Given the description of an element on the screen output the (x, y) to click on. 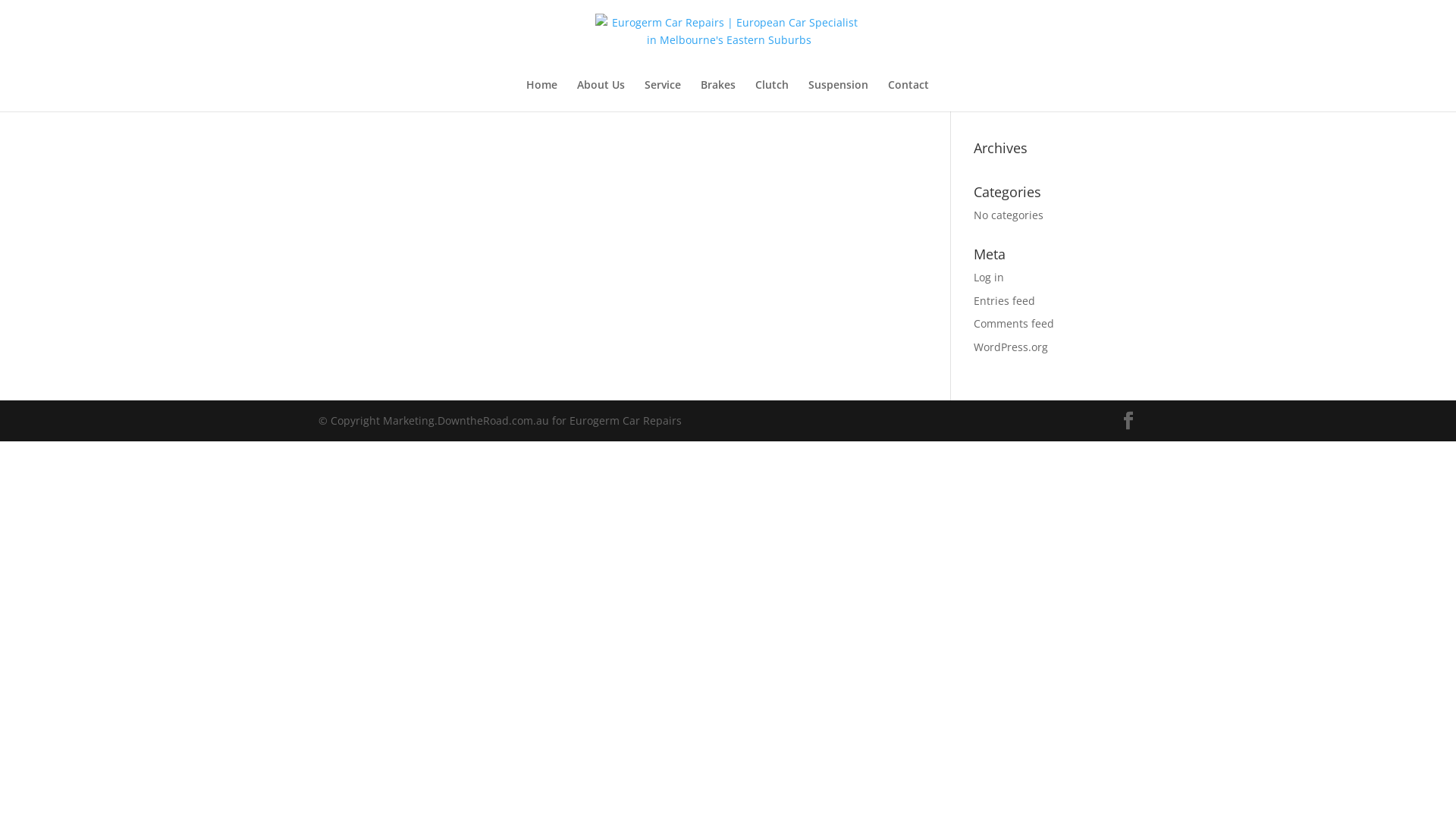
WordPress.org Element type: text (1010, 346)
About Us Element type: text (600, 95)
Suspension Element type: text (838, 95)
Entries feed Element type: text (1004, 300)
Service Element type: text (662, 95)
Search Element type: text (1111, 58)
Clutch Element type: text (771, 95)
Contact Element type: text (907, 95)
Brakes Element type: text (717, 95)
Comments feed Element type: text (1013, 323)
Home Element type: text (541, 95)
Log in Element type: text (988, 276)
